Given the description of an element on the screen output the (x, y) to click on. 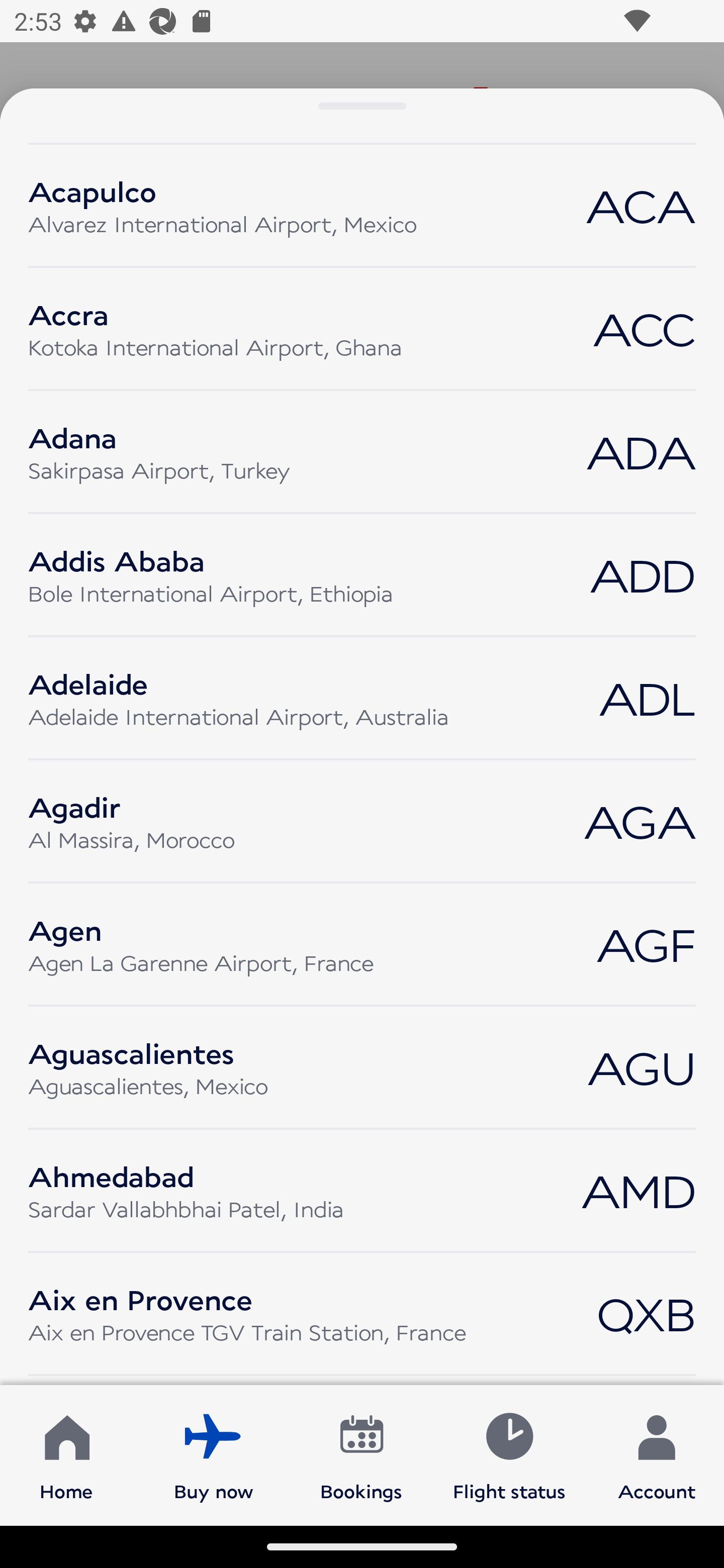
Acapulco Alvarez International Airport, Mexico ACA (361, 205)
Accra Kotoka International Airport, Ghana ACC (361, 328)
Adana Sakirpasa Airport, Turkey ADA (361, 451)
Agadir Al Massira, Morocco AGA (361, 821)
Agen Agen La Garenne Airport, France AGF (361, 943)
Aguascalientes Aguascalientes, Mexico AGU (361, 1067)
Ahmedabad Sardar Vallabhbhai Patel, India AMD (361, 1189)
Home (66, 1454)
Bookings (361, 1454)
Flight status (509, 1454)
Account (657, 1454)
